Given the description of an element on the screen output the (x, y) to click on. 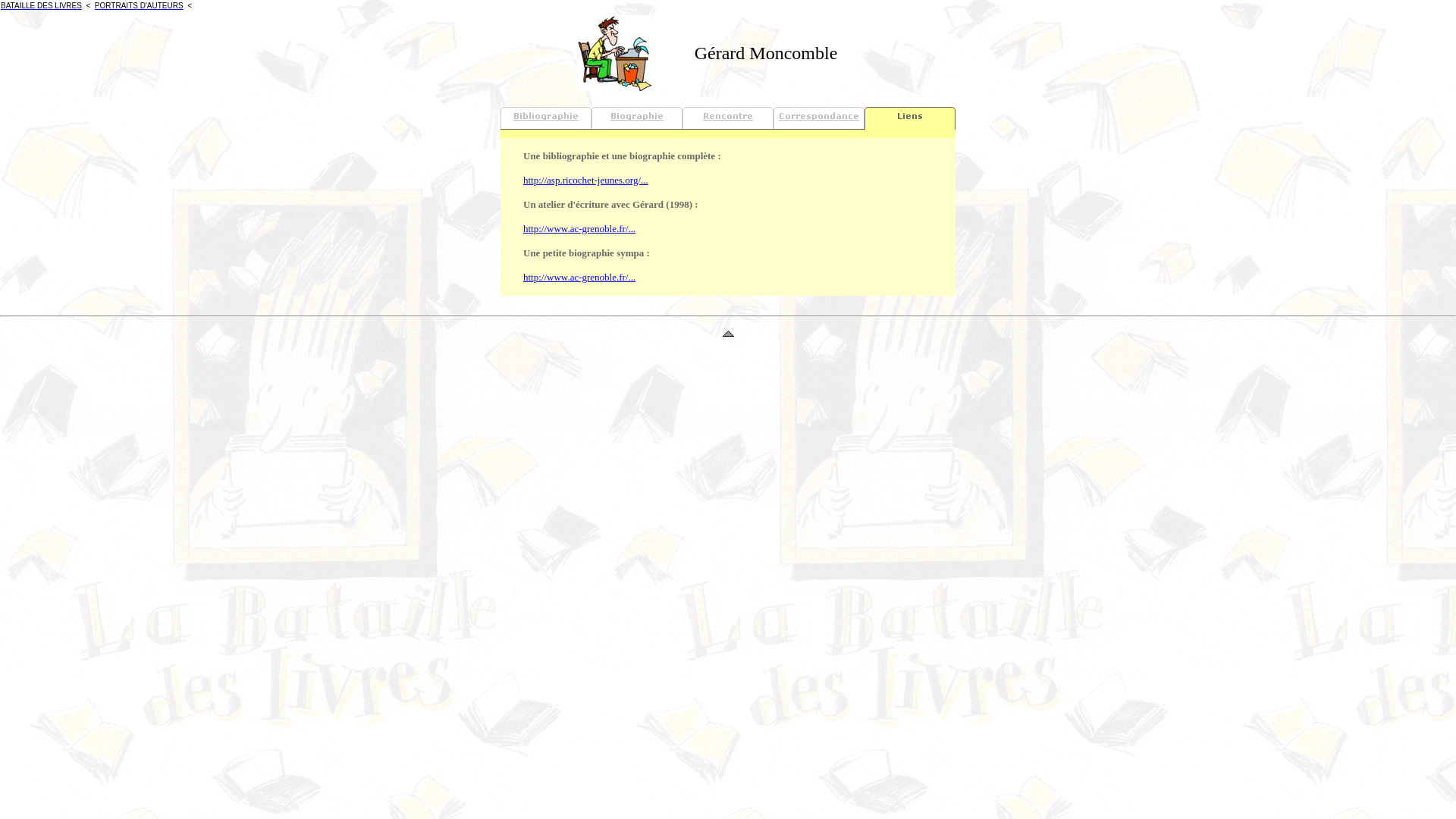
http://www.ac-grenoble.fr/... Element type: text (579, 275)
http://www.ac-grenoble.fr/ Element type: text (575, 227)
BATAILLE DES LIVRES Element type: text (40, 5)
... Element type: text (631, 227)
PORTRAITS D'AUTEURS Element type: text (138, 5)
http://asp.ricochet-jeunes.org/... Element type: text (585, 178)
